Given the description of an element on the screen output the (x, y) to click on. 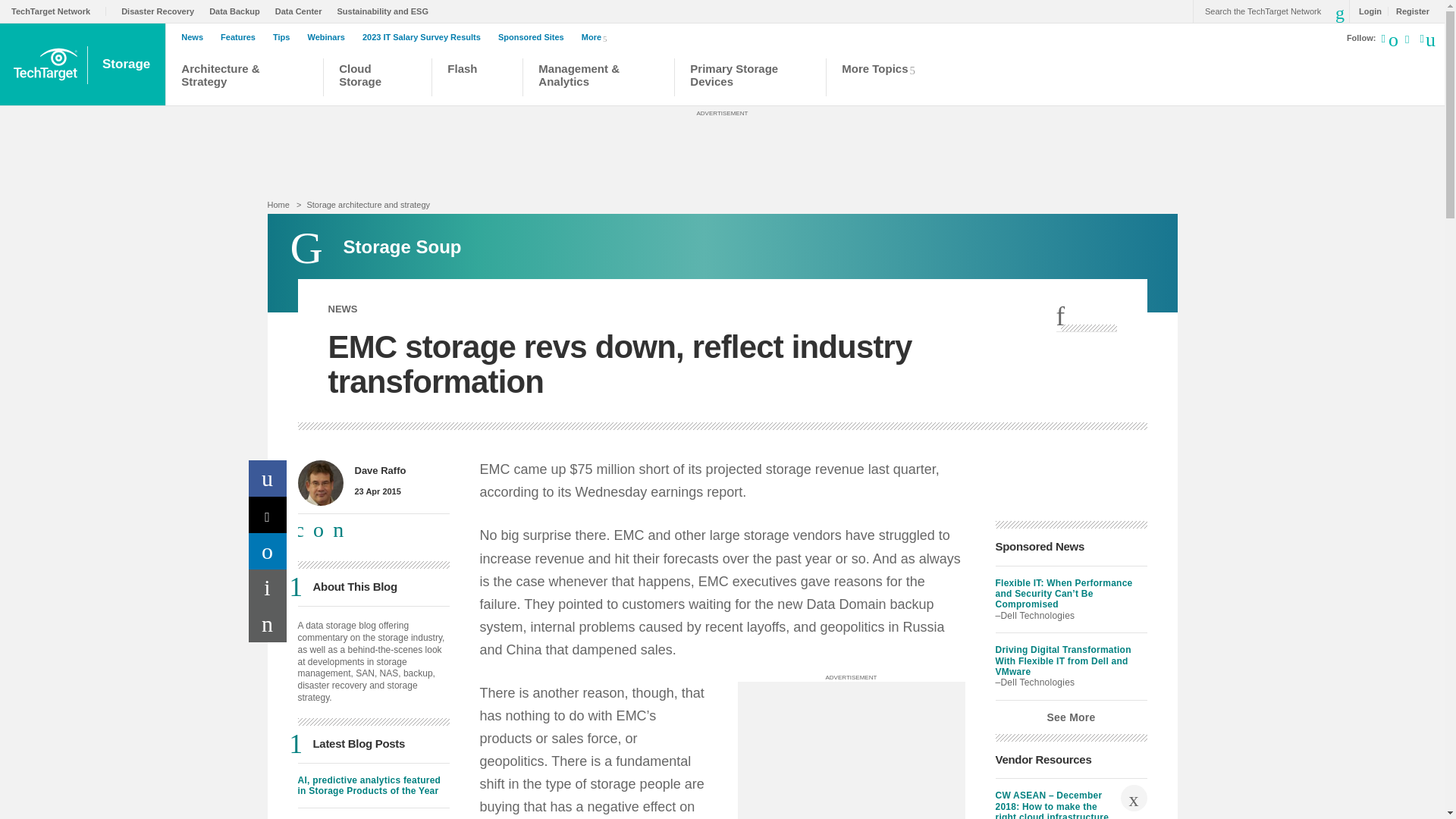
Email a Friend (267, 624)
Data Backup (238, 10)
Print This Page (267, 587)
Tips (285, 36)
3rd party ad content (721, 151)
Share on Facebook (267, 478)
More Topics (882, 79)
Sponsored Sites (534, 36)
Flash (476, 79)
Register (1408, 10)
